Given the description of an element on the screen output the (x, y) to click on. 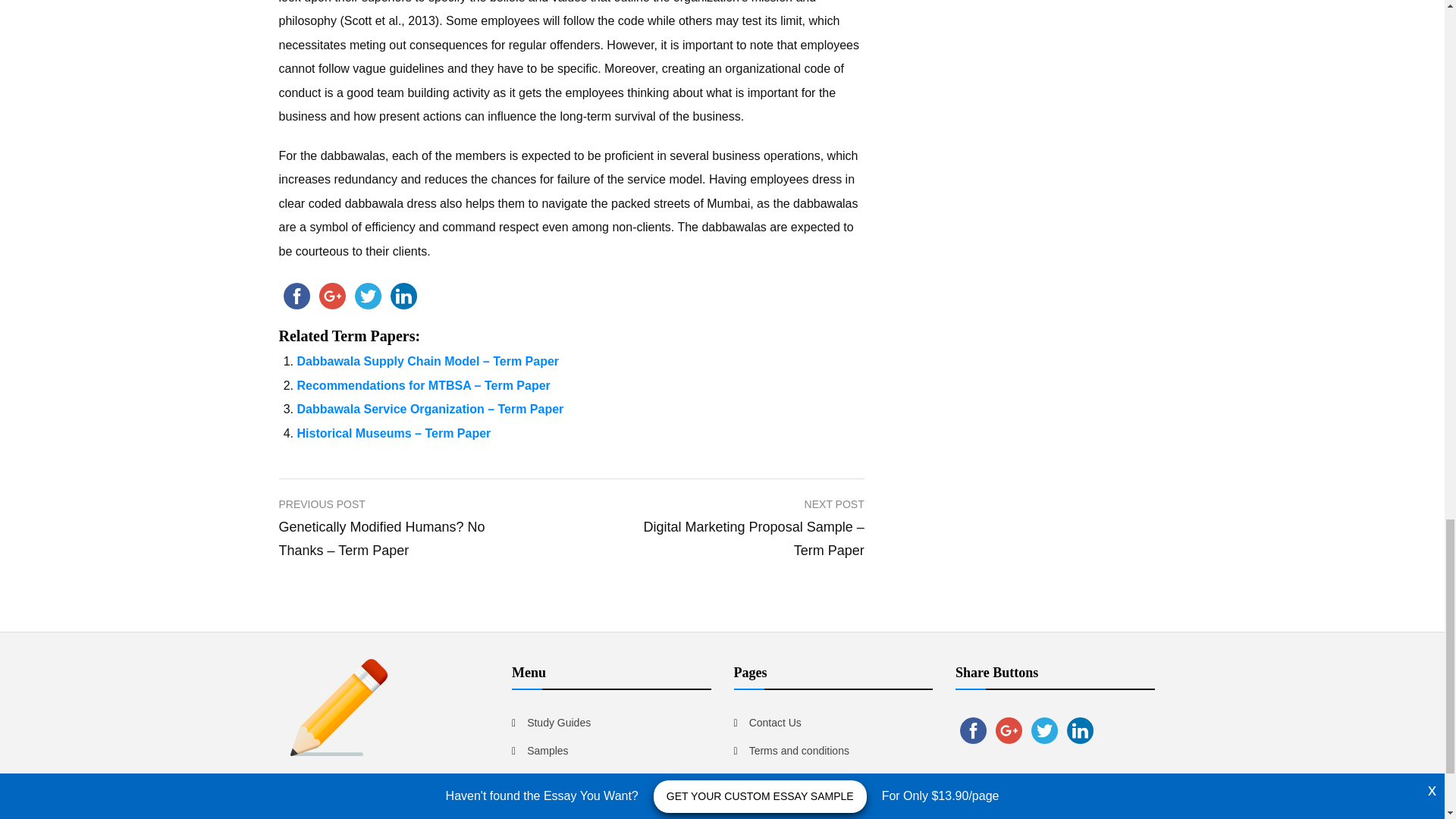
LinkedIn (402, 295)
Facebook (296, 295)
Twitter (367, 295)
